Given the description of an element on the screen output the (x, y) to click on. 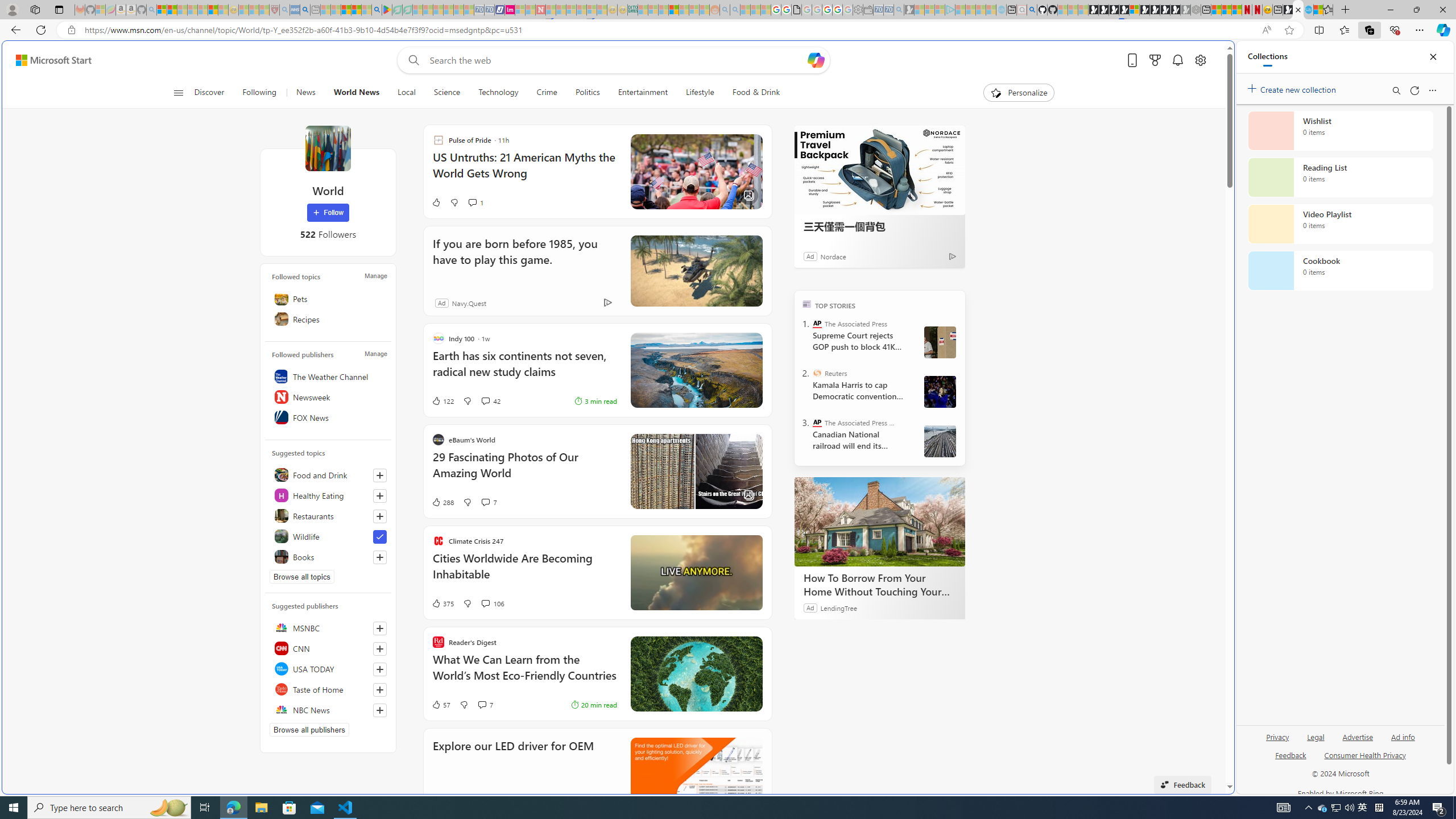
Cookbook collection, 0 items (1339, 270)
If you are born before 1985, you have to play this game. (521, 259)
CNN (327, 647)
Newsweek (327, 397)
